Given the description of an element on the screen output the (x, y) to click on. 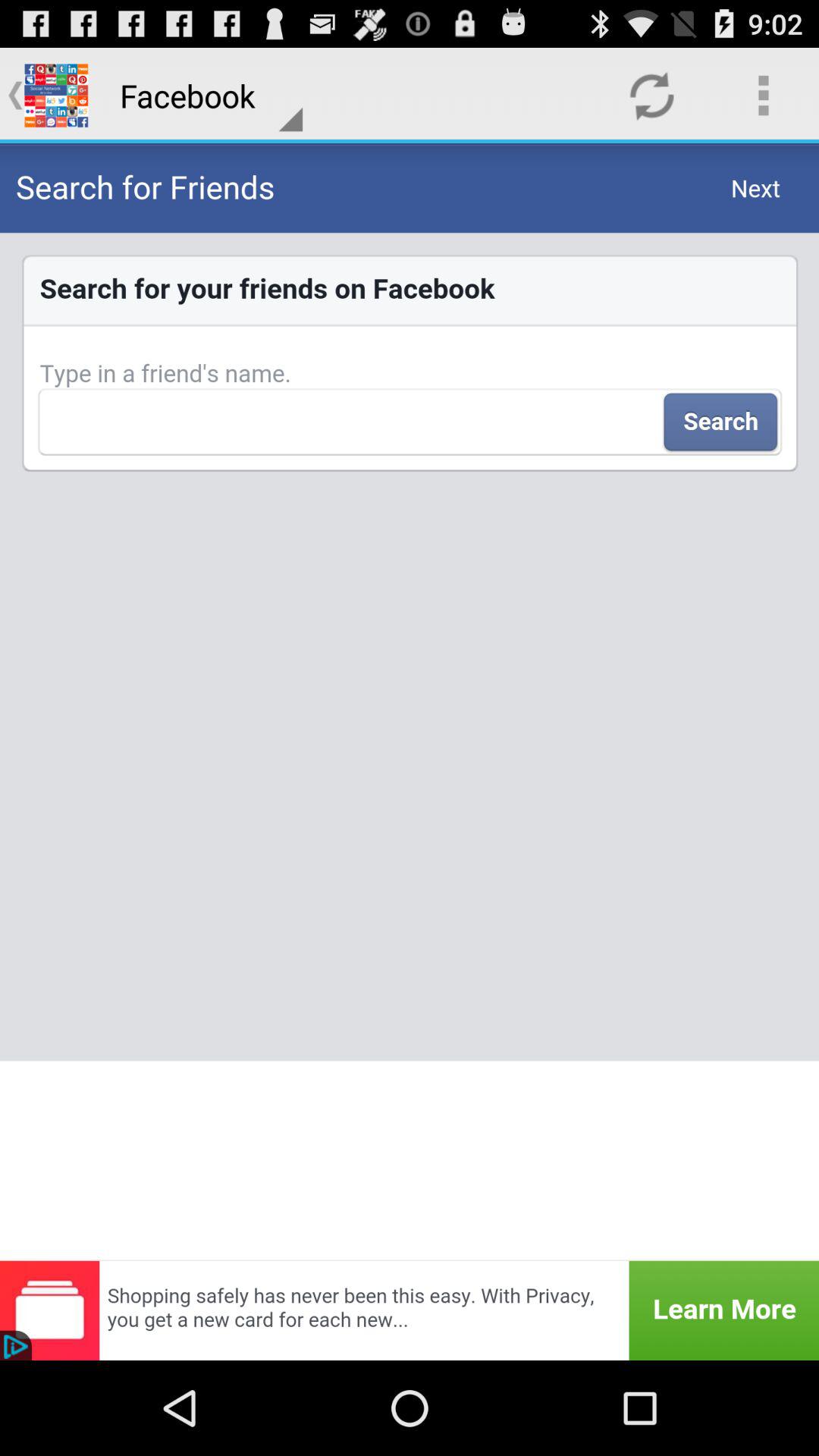
turn off the item below facebook item (409, 701)
